Given the description of an element on the screen output the (x, y) to click on. 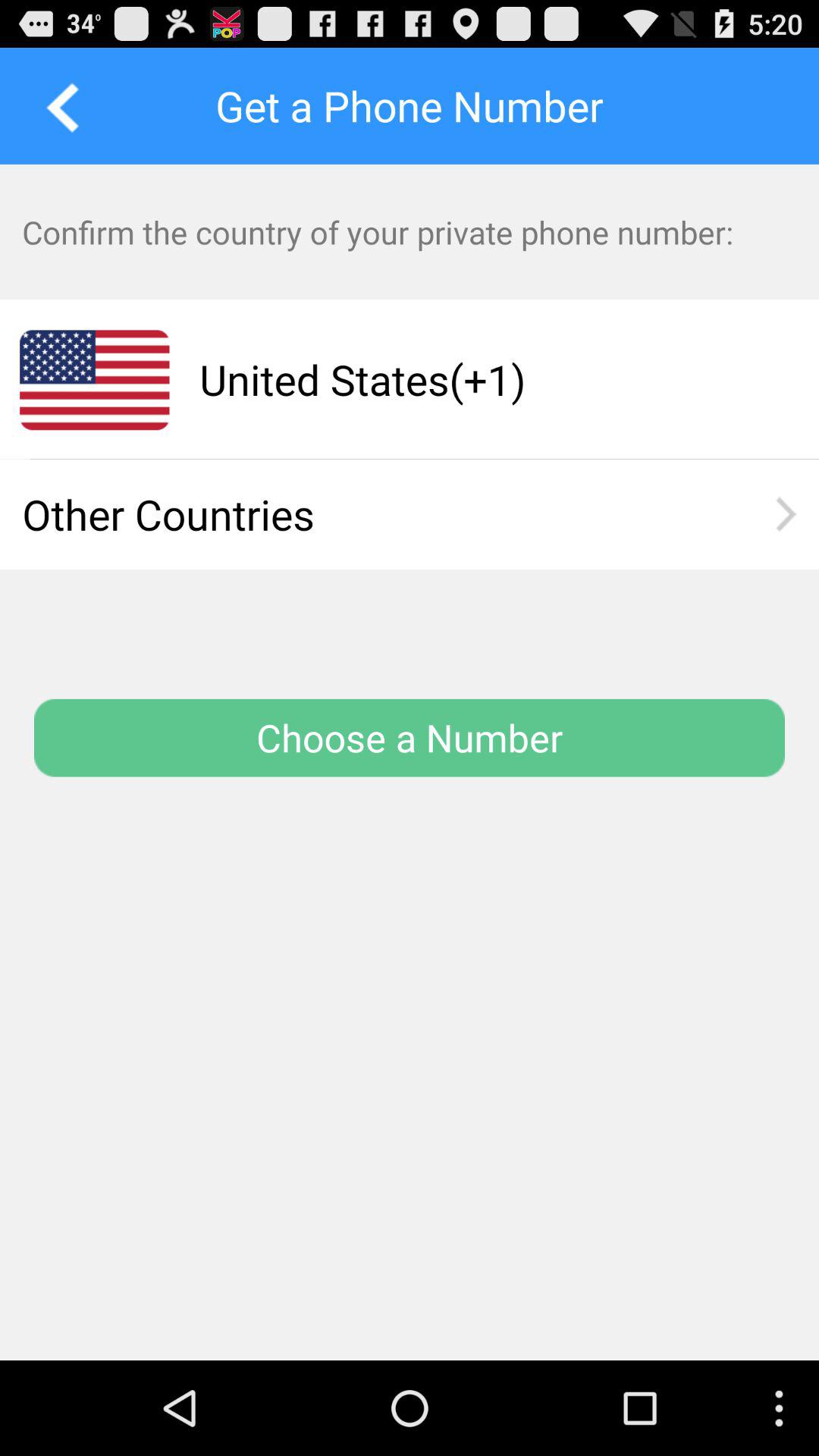
go back (57, 105)
